Given the description of an element on the screen output the (x, y) to click on. 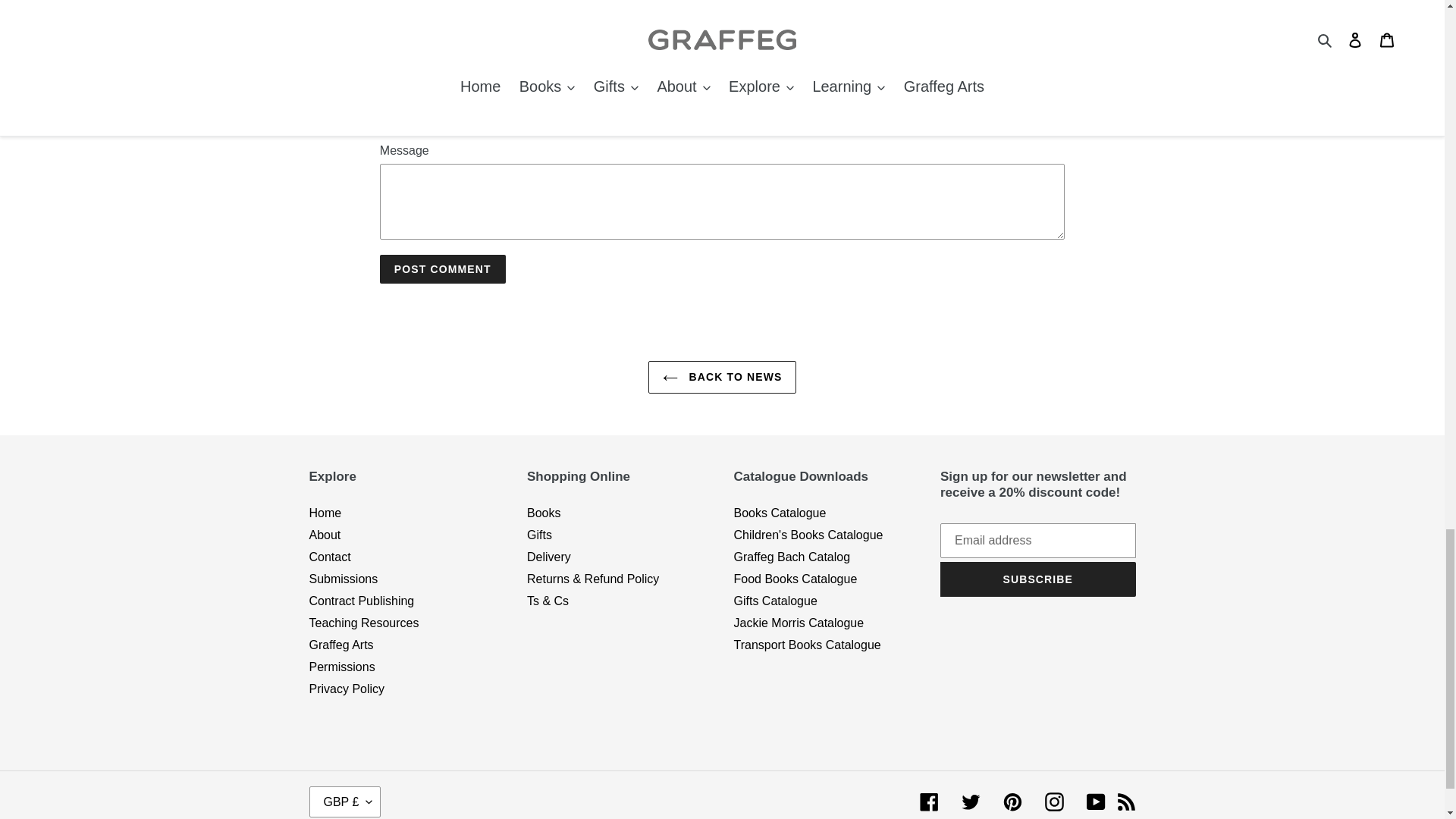
Post comment (442, 269)
